Given the description of an element on the screen output the (x, y) to click on. 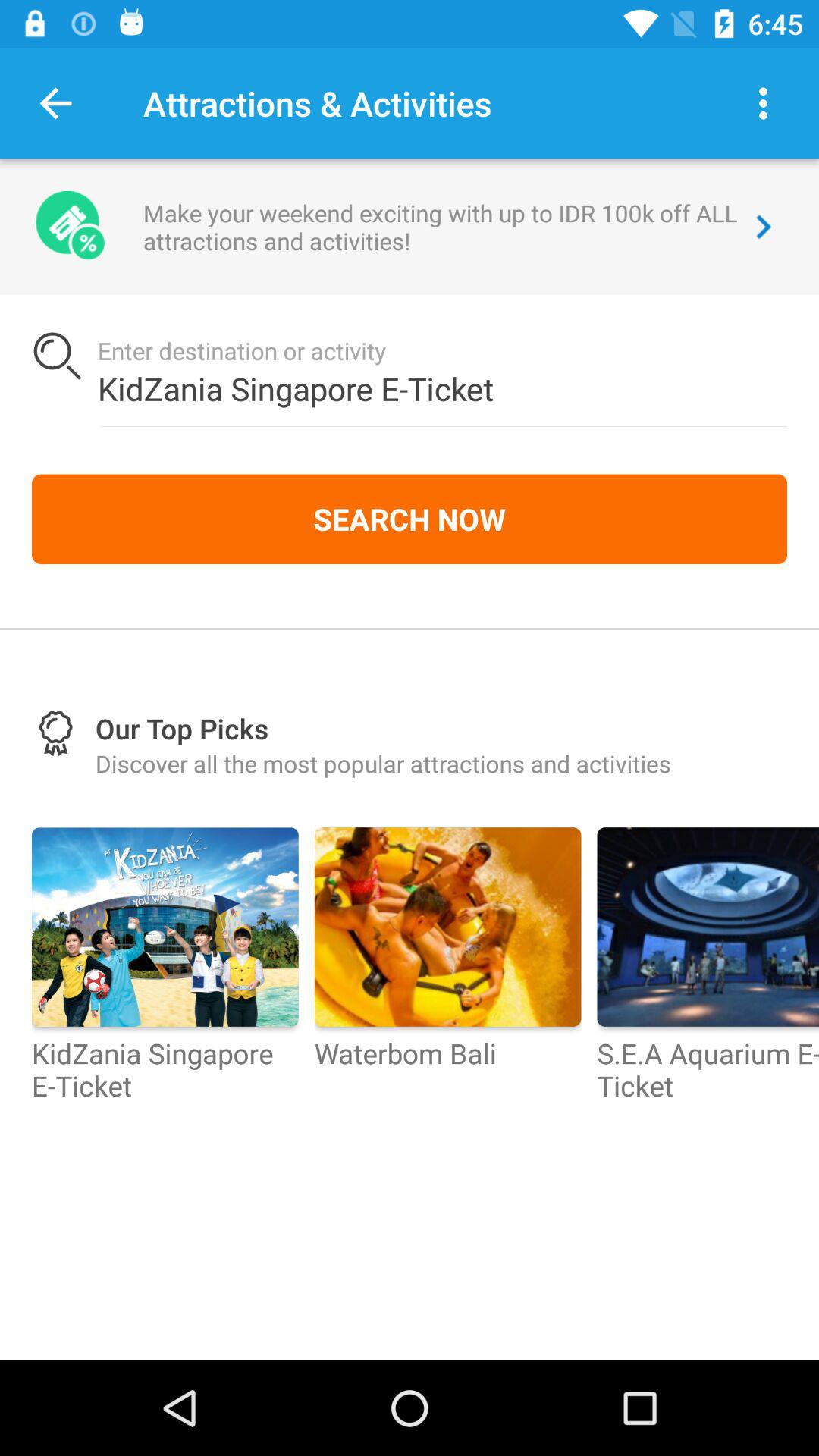
click option symbol (763, 103)
